Given the description of an element on the screen output the (x, y) to click on. 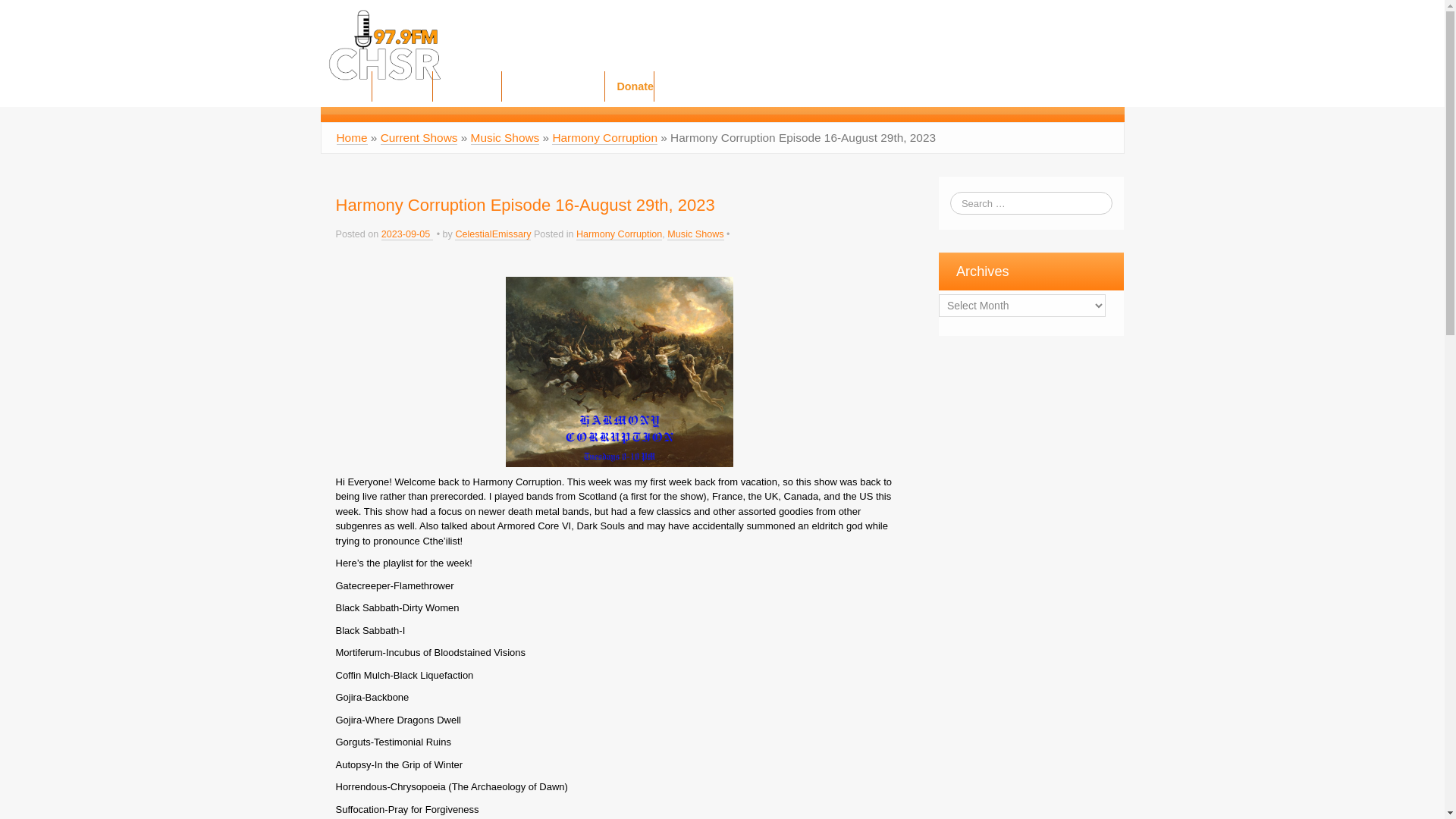
Events Calendar (553, 86)
CelestialEmissary (492, 234)
2023-09-05 (406, 234)
CHSR-FM 97.9 (383, 44)
Schedule (466, 86)
Music Shows (694, 234)
View all posts by CelestialEmissary (492, 234)
About (345, 86)
Music Shows (505, 137)
Donate (628, 86)
